Given the description of an element on the screen output the (x, y) to click on. 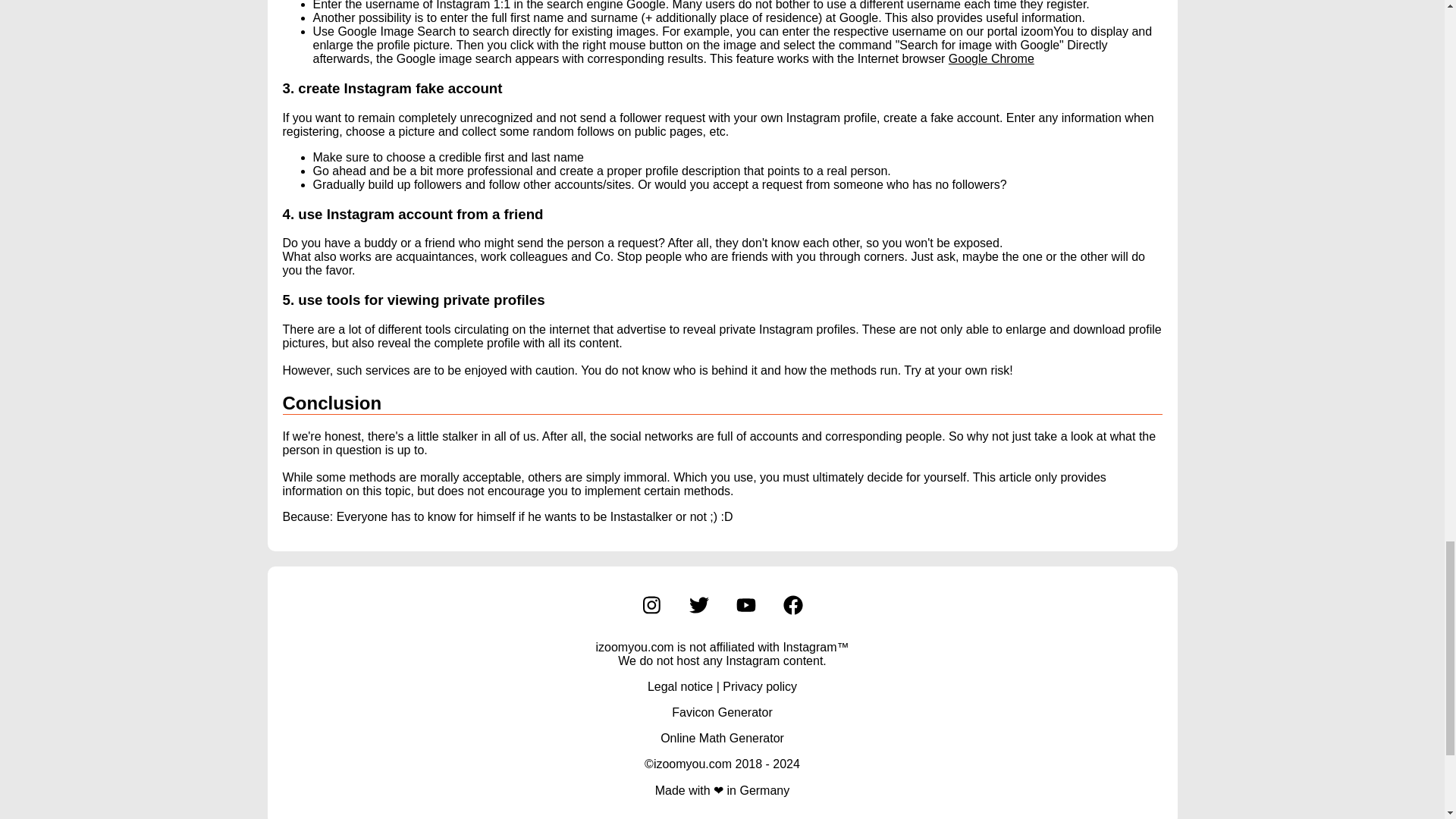
Privacy policy (759, 686)
Google Chrome (991, 58)
Privacy policy (759, 686)
izoomYou on YouTube (745, 604)
izoomYou on Instagram (650, 604)
Online Math Generator (722, 738)
Legal notice (680, 686)
Legal notice (680, 686)
Favicon Generator (722, 712)
izoomYou on Twitter (698, 604)
izoomYou on Facebook (792, 604)
